Given the description of an element on the screen output the (x, y) to click on. 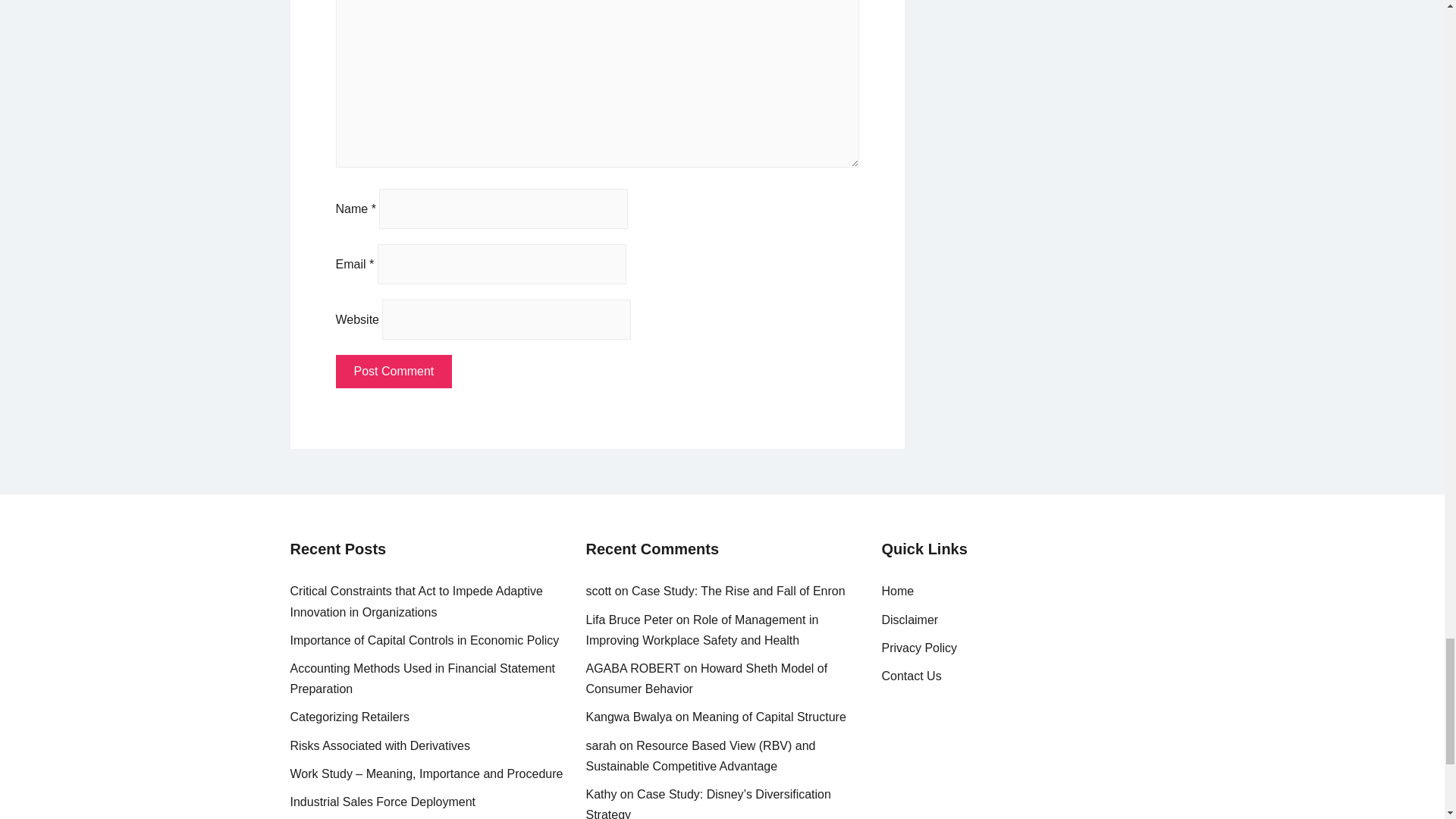
Post Comment (392, 371)
Post Comment (392, 371)
